Given the description of an element on the screen output the (x, y) to click on. 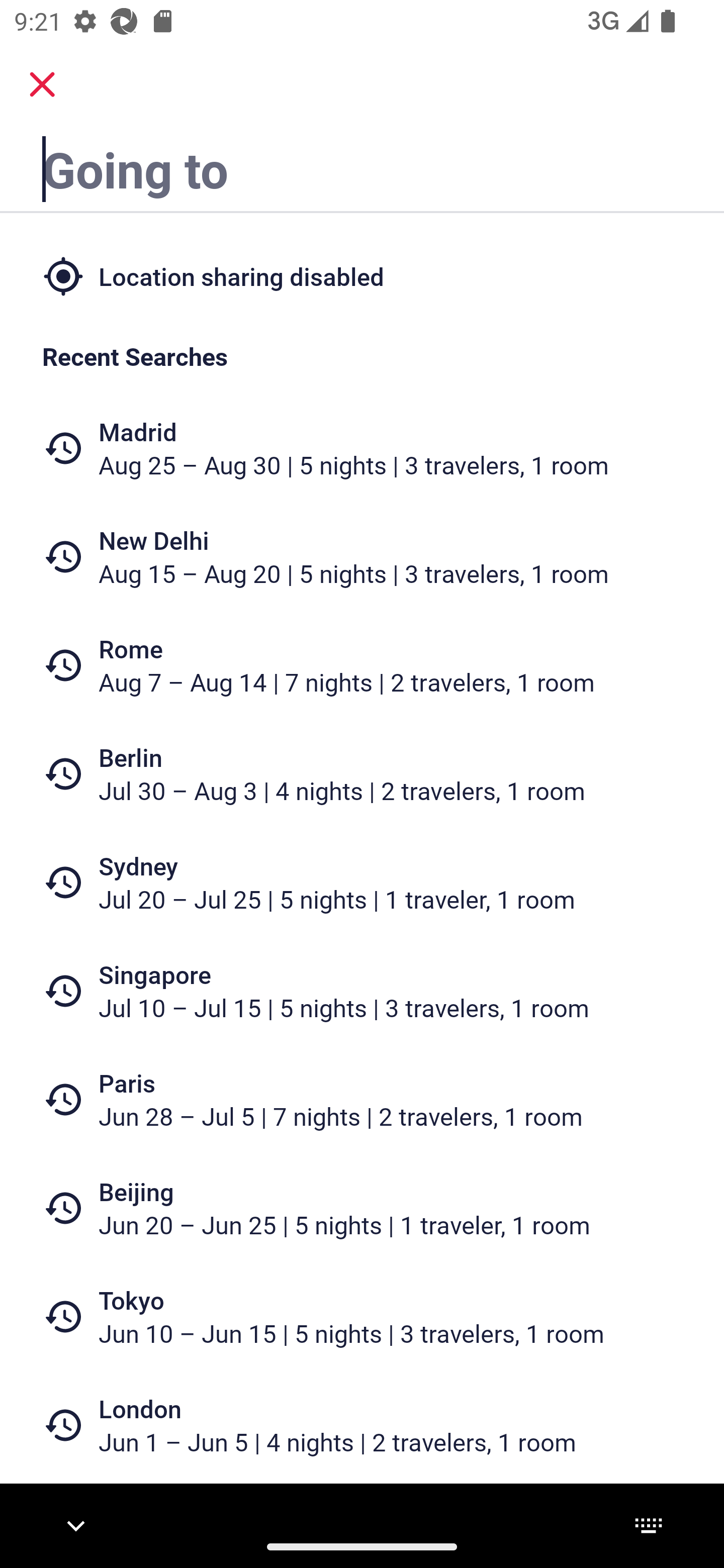
close. (42, 84)
Location sharing disabled (362, 275)
